Given the description of an element on the screen output the (x, y) to click on. 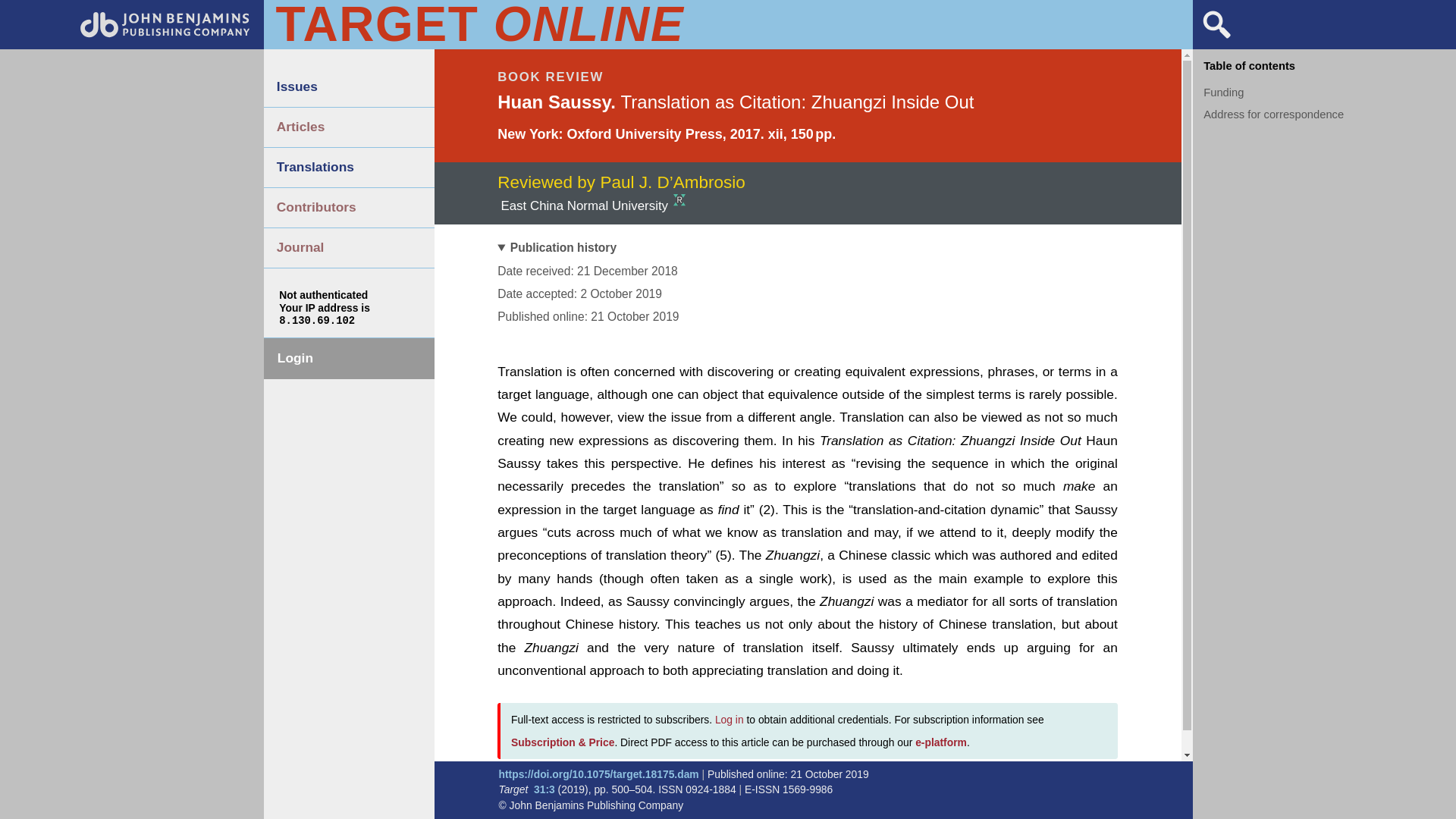
Journal (348, 247)
Funding (1223, 92)
Contributors (348, 207)
Translations (348, 167)
TARGET ONLINE (477, 24)
Articles (348, 127)
To the Publishers' catalog (165, 32)
Login (348, 358)
Issues (348, 87)
Full-text search (1216, 38)
Address for correspondence (1273, 114)
